Given the description of an element on the screen output the (x, y) to click on. 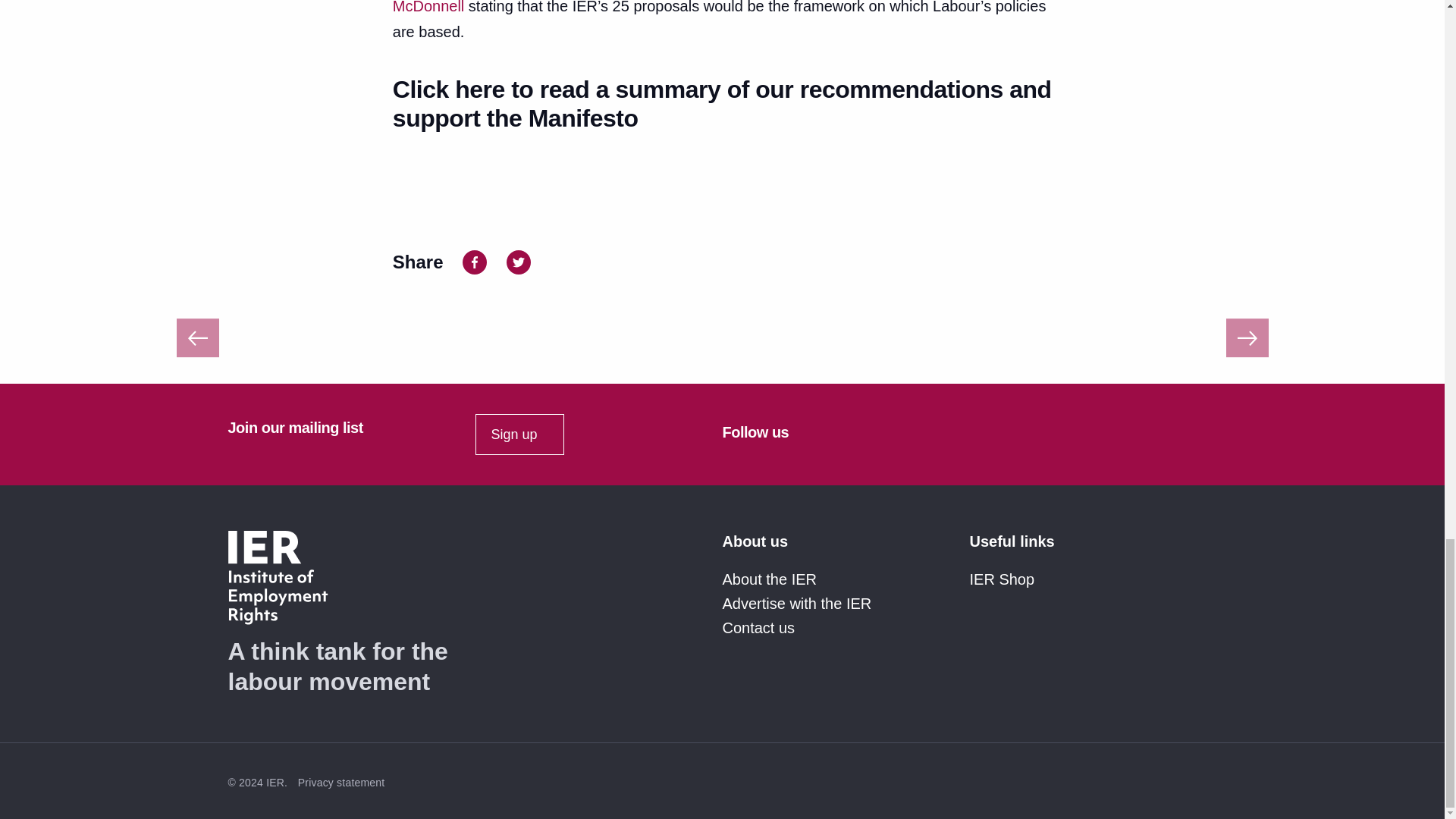
Share to Twitter (518, 260)
Share to Facebook (474, 260)
